Given the description of an element on the screen output the (x, y) to click on. 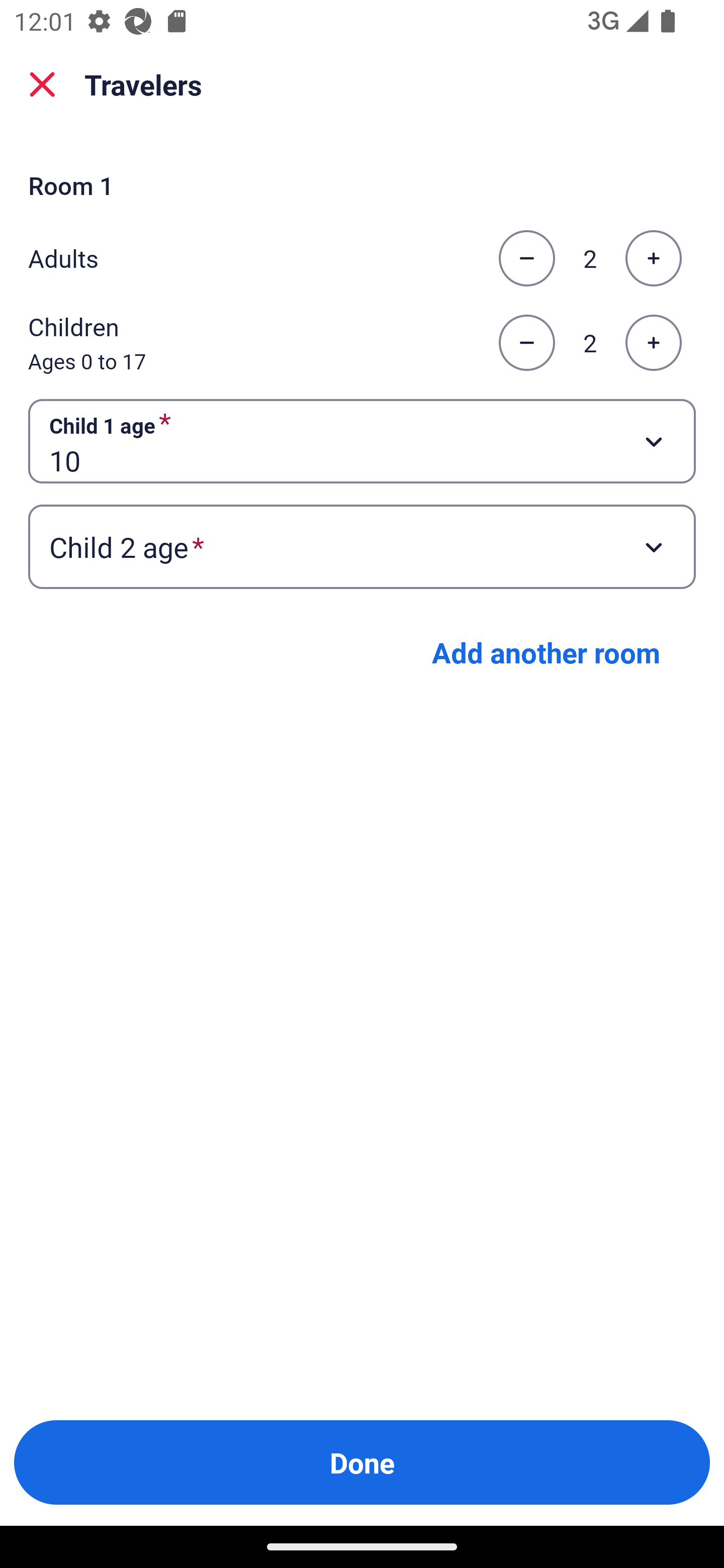
close (42, 84)
Decrease the number of adults (526, 258)
Increase the number of adults (653, 258)
Decrease the number of children (526, 343)
Increase the number of children (653, 343)
Child 1 age required Button 10 (361, 440)
Child 2 age required Button (361, 546)
Add another room (545, 651)
Done (361, 1462)
